Given the description of an element on the screen output the (x, y) to click on. 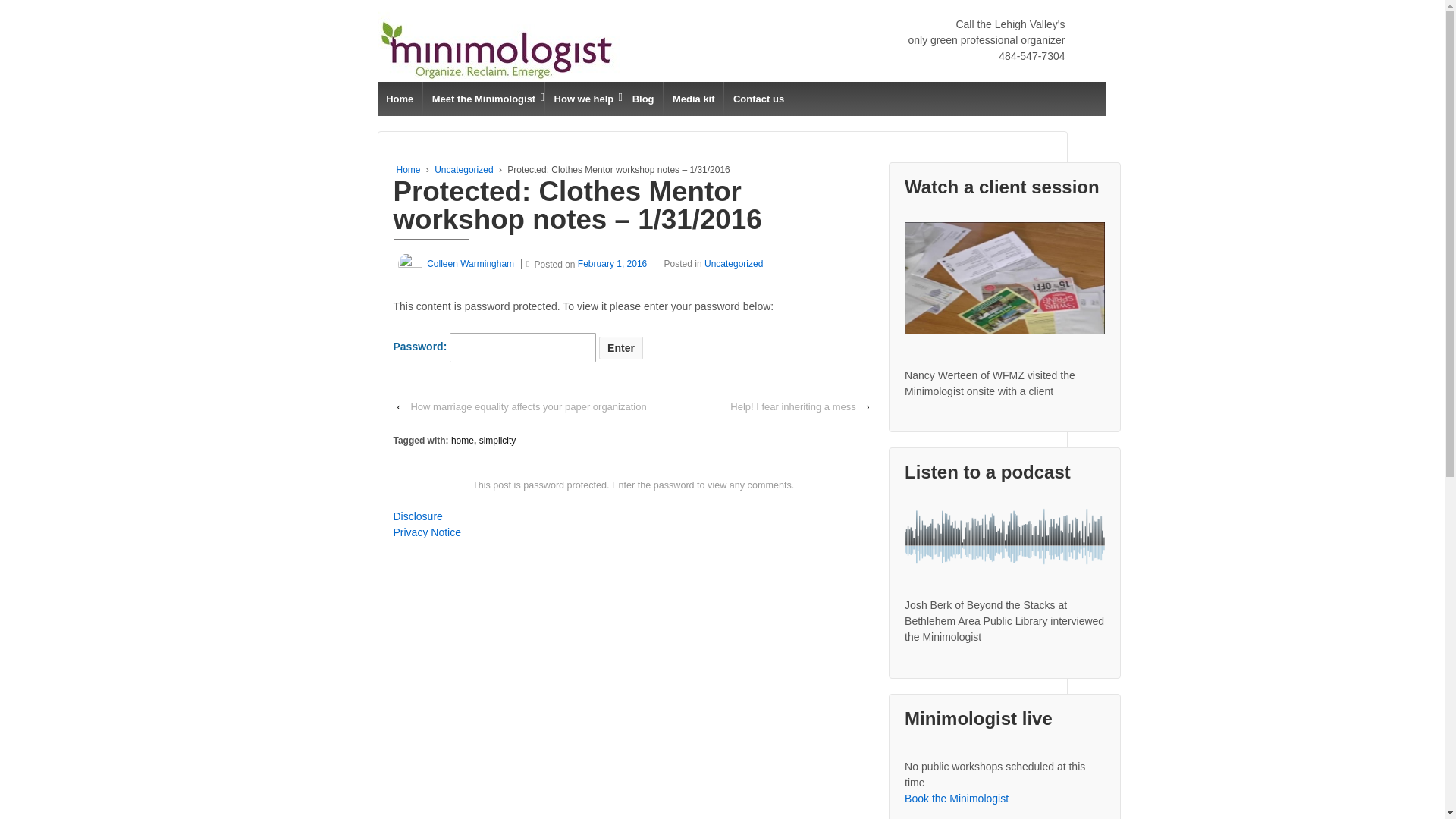
View all posts by Colleen Warmingham (453, 263)
February 1, 2016 (615, 263)
Home (400, 98)
Watch a client session (1004, 278)
How marriage equality affects your paper organization (528, 406)
Listen to a podcast (1004, 536)
Colleen Warmingham (453, 263)
Uncategorized (733, 263)
Home (408, 169)
Disclosure (417, 516)
